Given the description of an element on the screen output the (x, y) to click on. 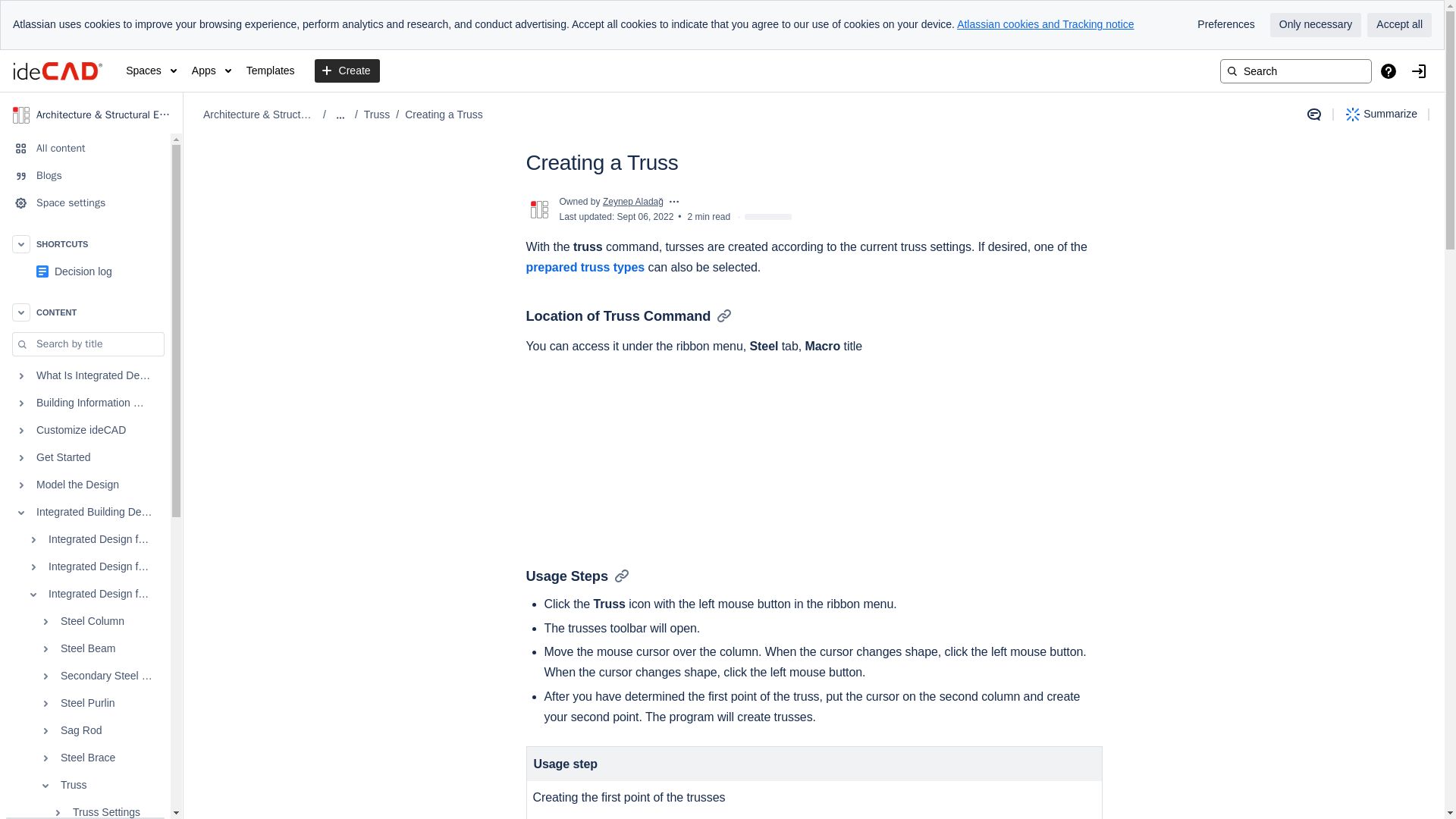
Spaces (150, 70)
Templates (270, 70)
Integrated Design for Concrete Building Structures (84, 566)
CONTENT (84, 311)
Building Information Modeling (84, 402)
Preferences (1225, 24)
Integrated Design for Steel Building Structures (84, 594)
Only necessary (1315, 24)
All content (84, 148)
Model the Design (84, 484)
Create (347, 70)
Integrated Building Design (84, 512)
Apps (211, 70)
Decision log (83, 271)
What Is Integrated Design for AEC (84, 375)
